Given the description of an element on the screen output the (x, y) to click on. 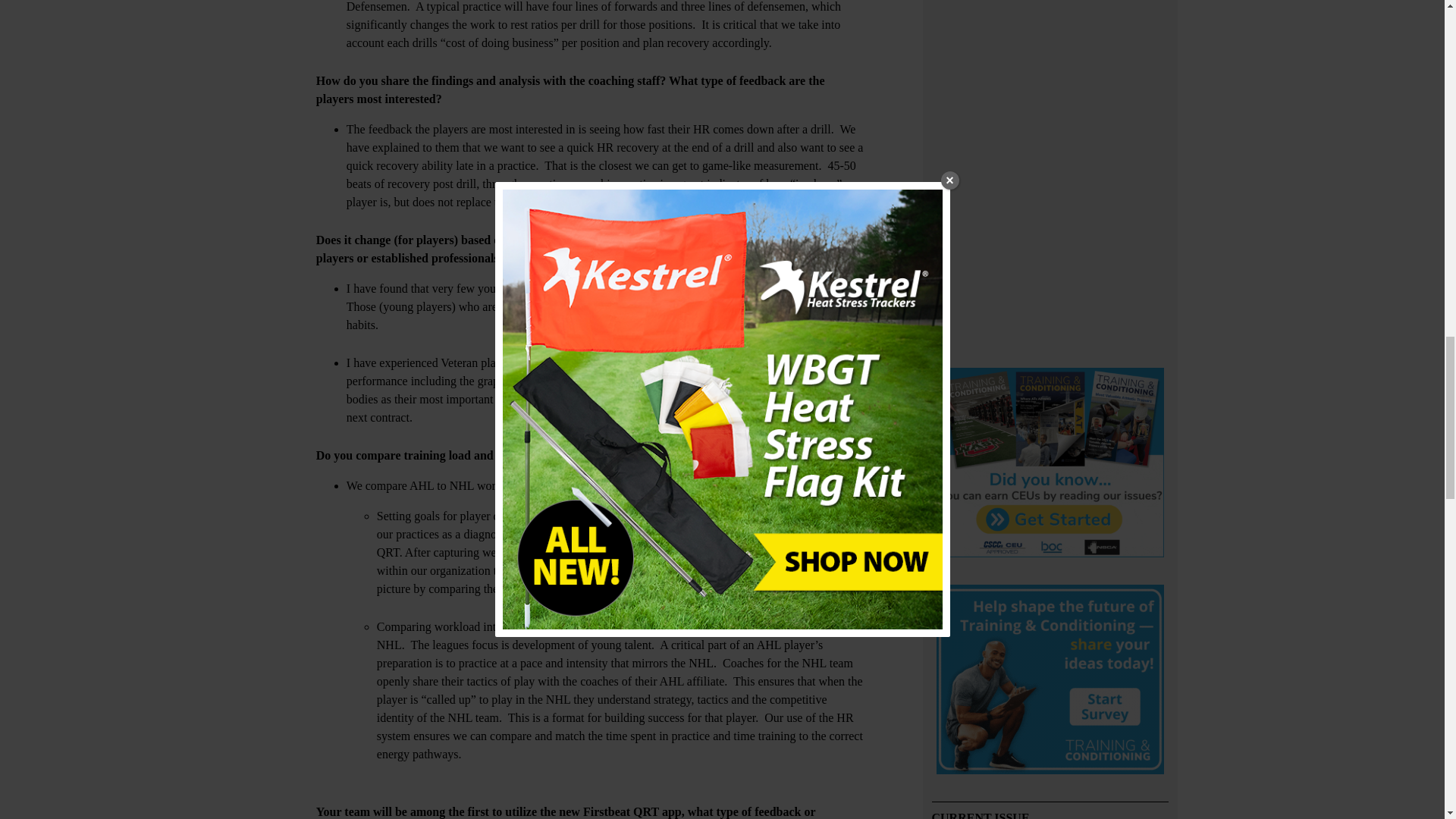
CEU (1049, 464)
Survey  (1049, 681)
